Given the description of an element on the screen output the (x, y) to click on. 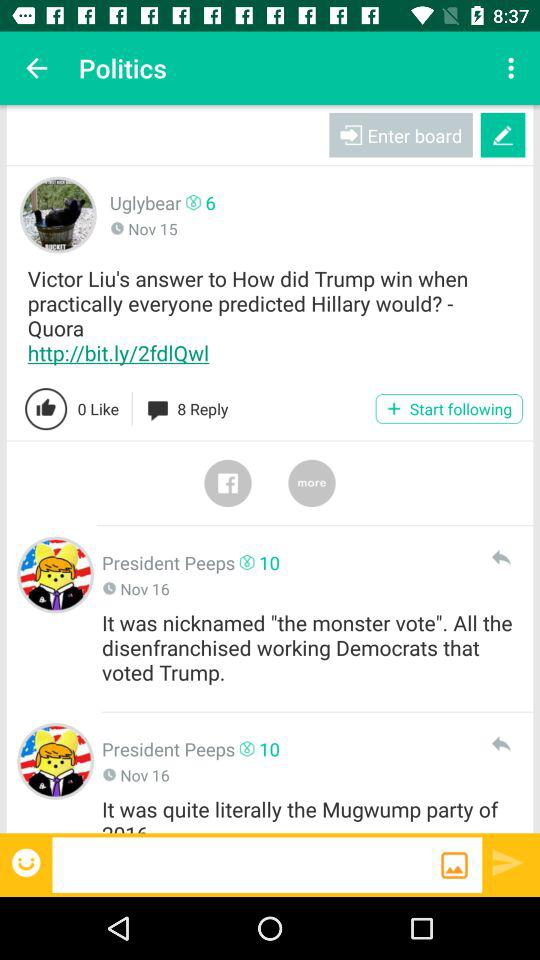
like button (46, 409)
